Given the description of an element on the screen output the (x, y) to click on. 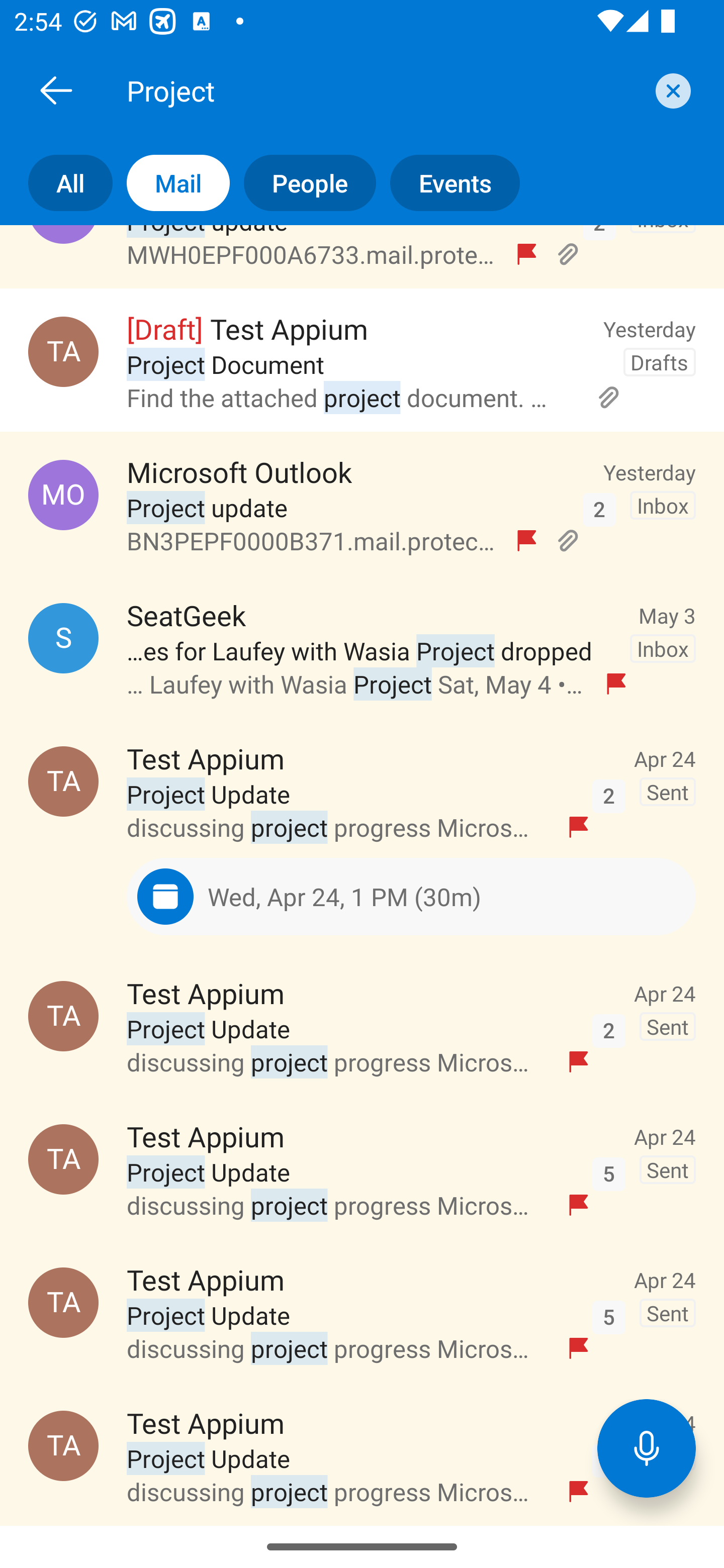
Back (55, 89)
Project (384, 89)
clear search (670, 90)
All (56, 183)
People (302, 183)
Events (447, 183)
Voice Assistant (646, 1447)
